Given the description of an element on the screen output the (x, y) to click on. 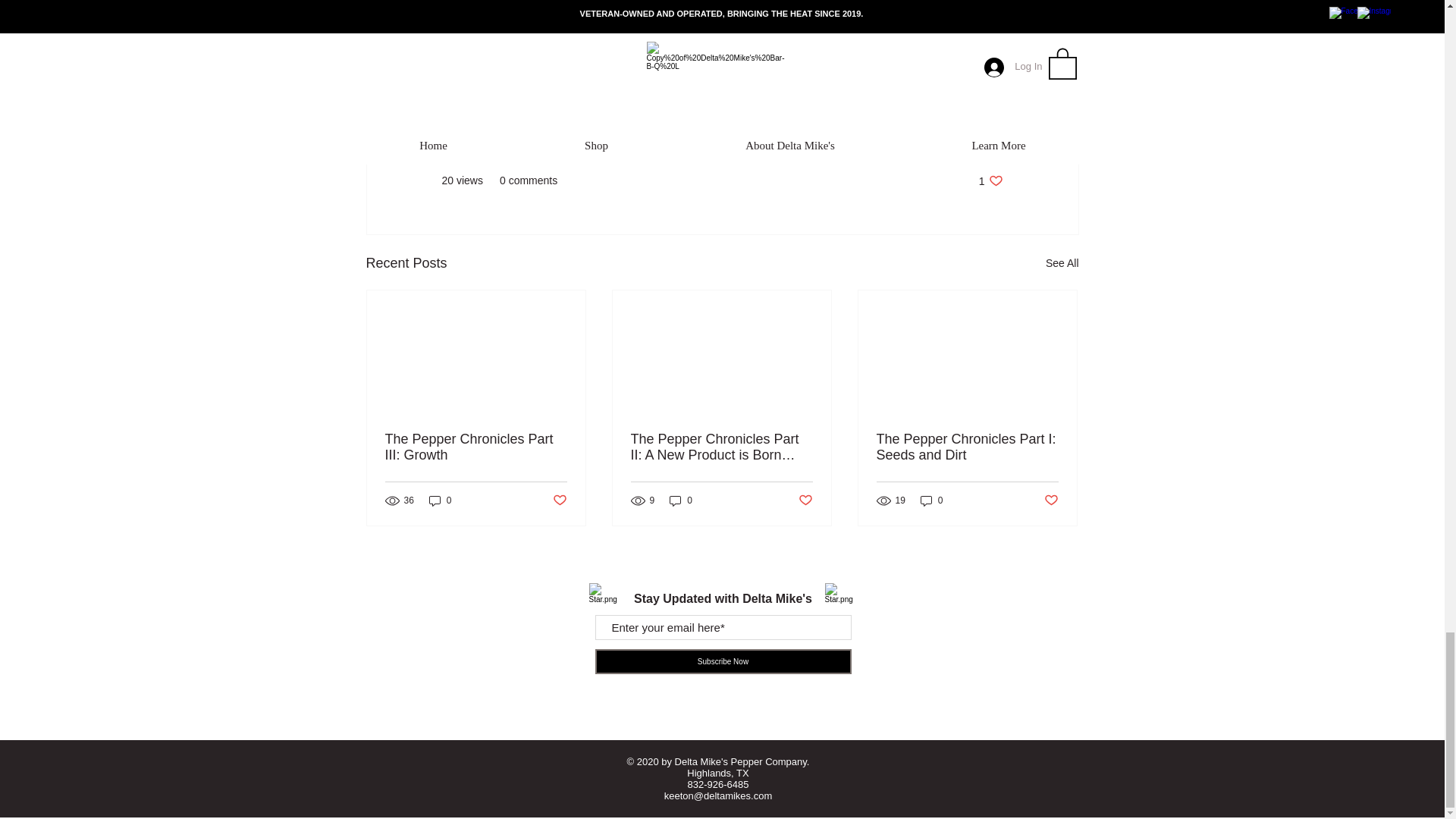
See All (990, 180)
Post not marked as liked (1061, 263)
The Pepper Chronicles Part I: Seeds and Dirt (804, 500)
0 (967, 447)
0 (931, 499)
Post not marked as liked (440, 499)
The Pepper Chronicles Part III: Growth (558, 500)
0 (476, 447)
